Given the description of an element on the screen output the (x, y) to click on. 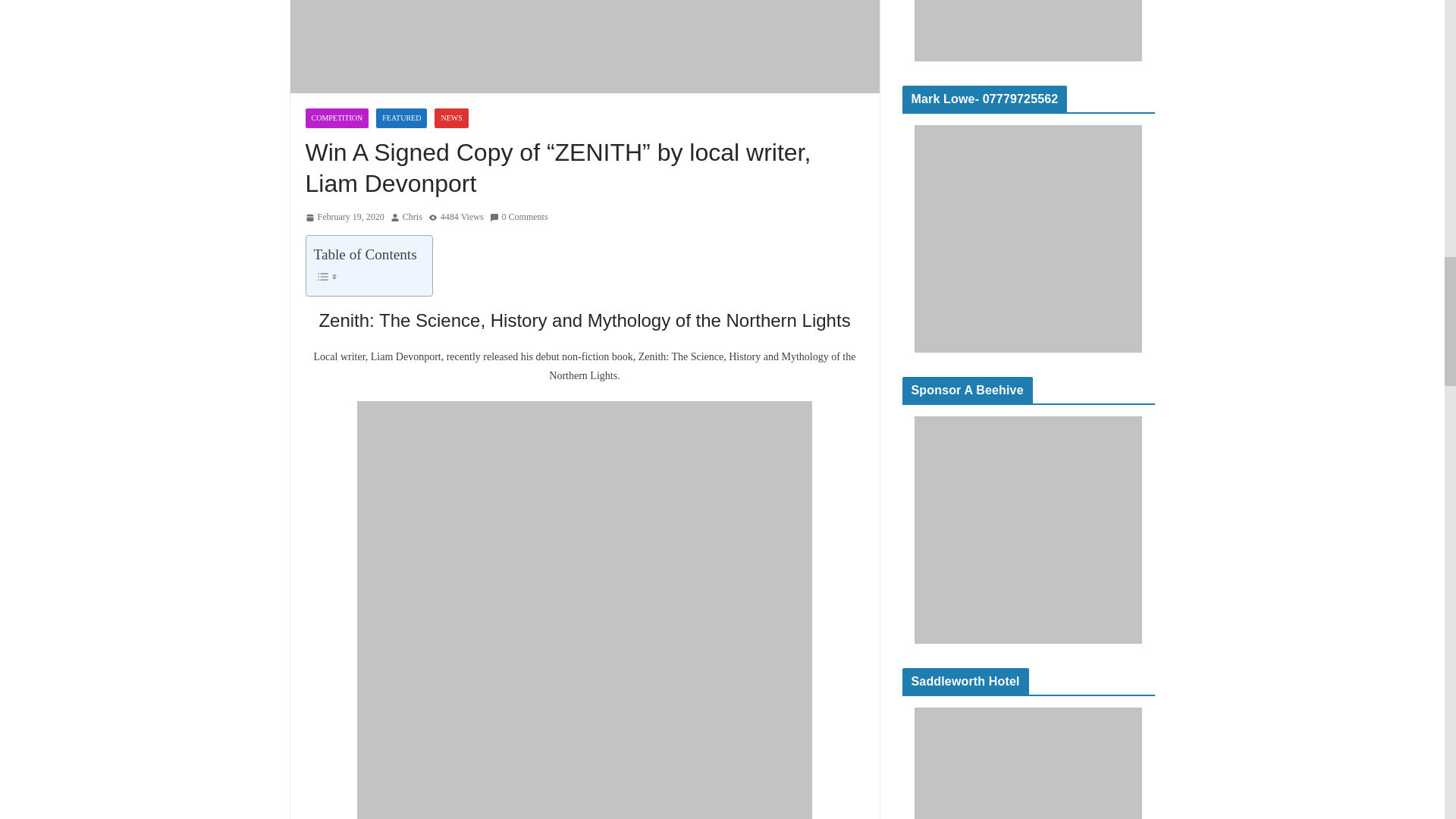
0 Comments (518, 217)
NEWS (450, 117)
FEATURED (400, 117)
COMPETITION (336, 117)
Chris (412, 217)
11:59 pm (344, 217)
February 19, 2020 (344, 217)
Chris (412, 217)
